Given the description of an element on the screen output the (x, y) to click on. 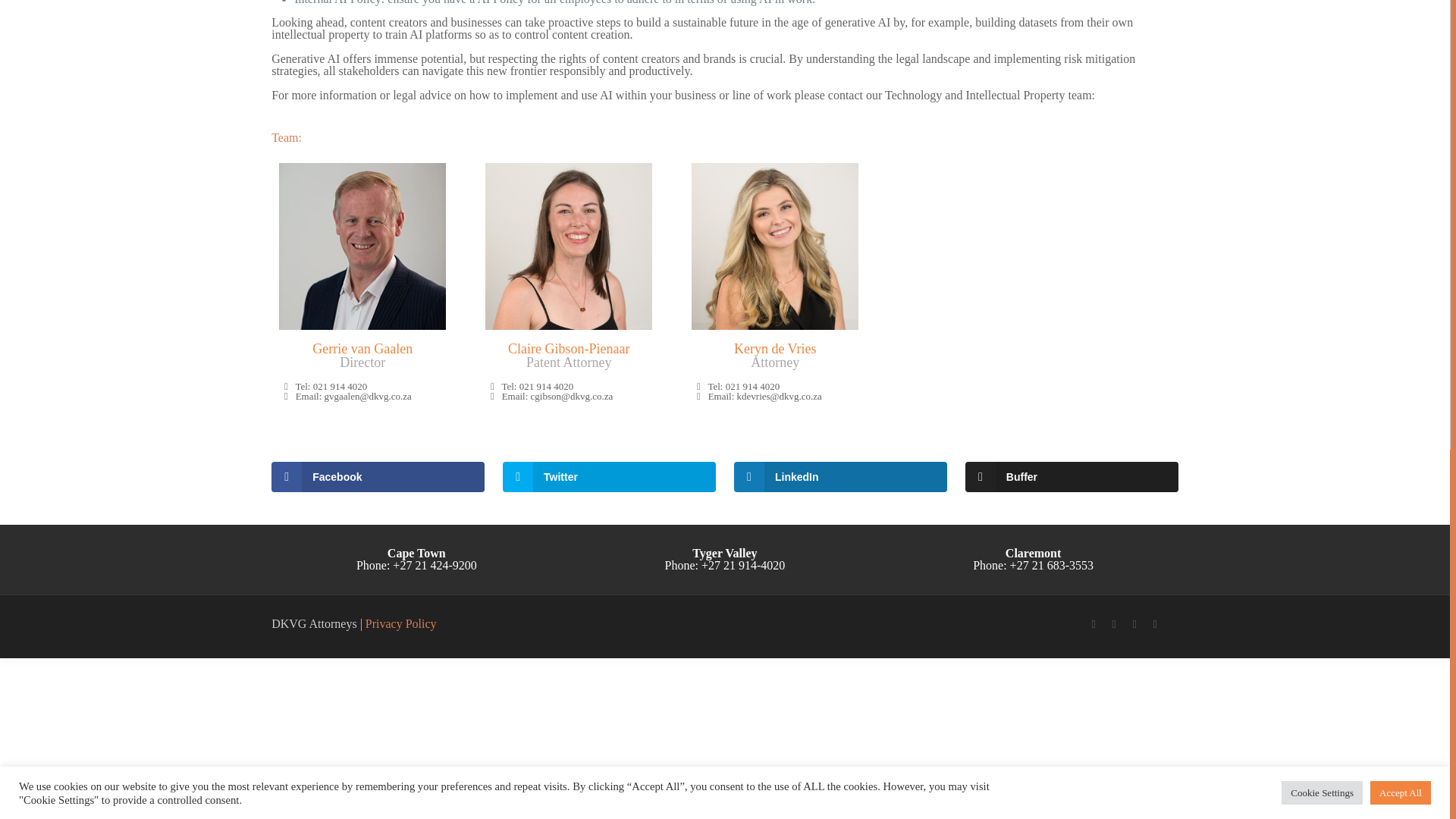
Facebook (1094, 623)
LinkedIn (1114, 623)
Instagram (1134, 623)
